Given the description of an element on the screen output the (x, y) to click on. 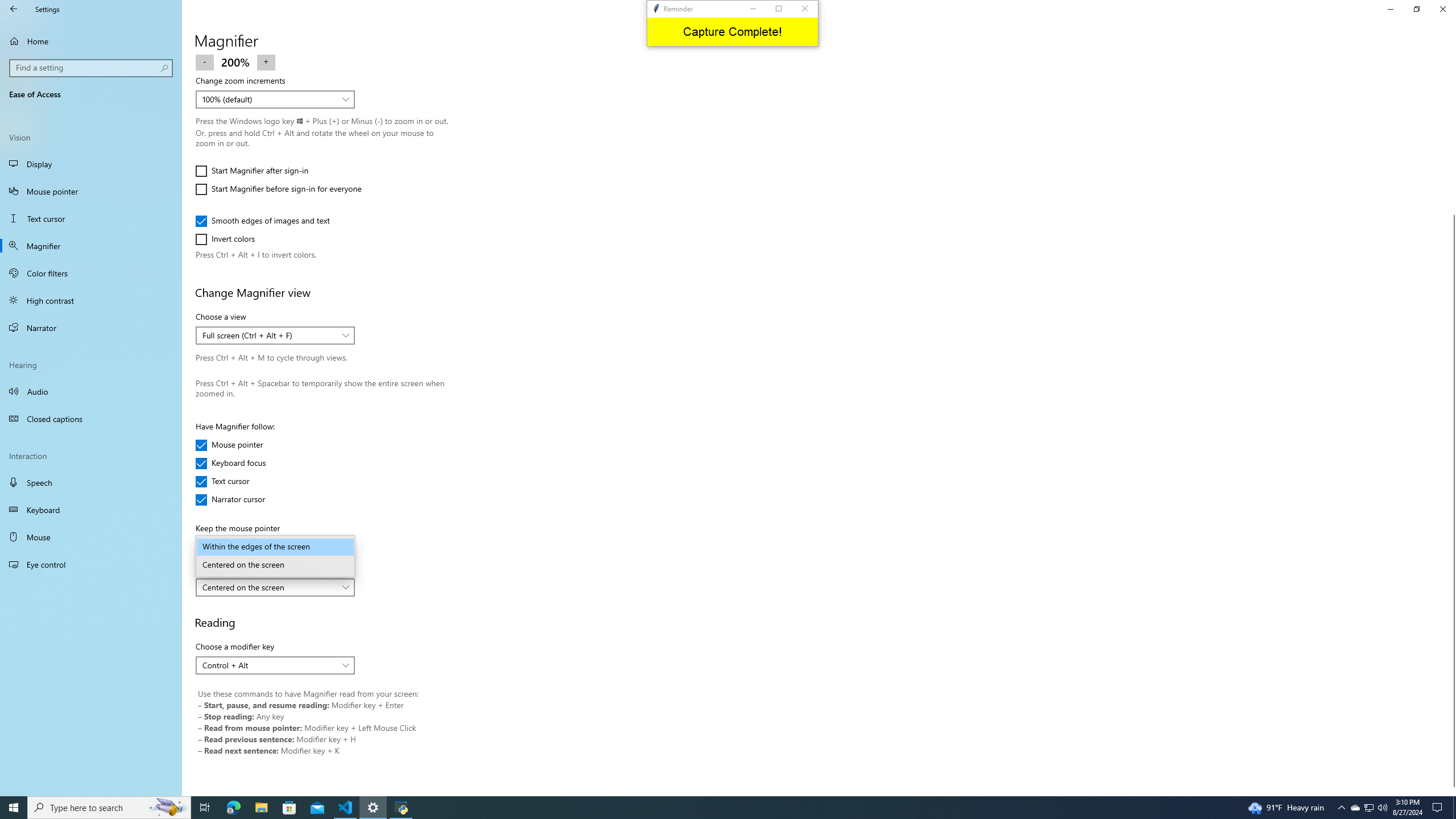
Settings - 1 running window (373, 807)
Eye control (91, 564)
Back (13, 9)
Python 3.10 (64-bit) - 1 running window (399, 807)
Microsoft Store (289, 807)
Choose a modifier key (1368, 807)
Show desktop (275, 665)
Vertical Small Increase (1454, 807)
Microsoft Edge (1451, 791)
Color filters (233, 807)
Mouse pointer (91, 272)
Display (229, 445)
Change zoom increments (91, 163)
Action Center, No new notifications (275, 99)
